Given the description of an element on the screen output the (x, y) to click on. 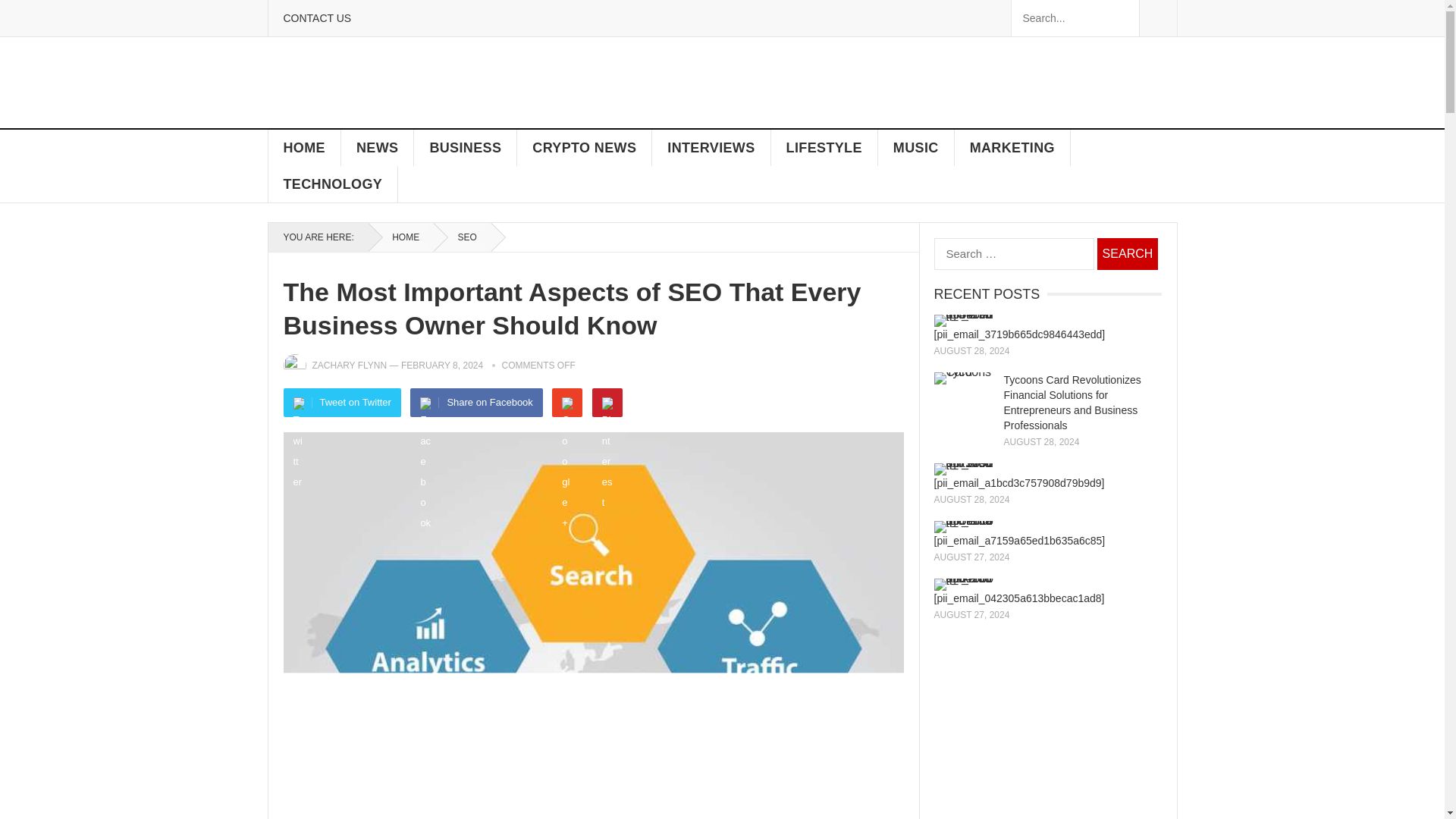
SEO (461, 236)
HOME (400, 236)
Posts by Zachary Flynn (350, 365)
Share on Facebook (475, 402)
MUSIC (916, 147)
LIFESTYLE (824, 147)
Search (1127, 254)
MARKETING (1012, 147)
BUSINESS (464, 147)
Pinterest (607, 402)
